Given the description of an element on the screen output the (x, y) to click on. 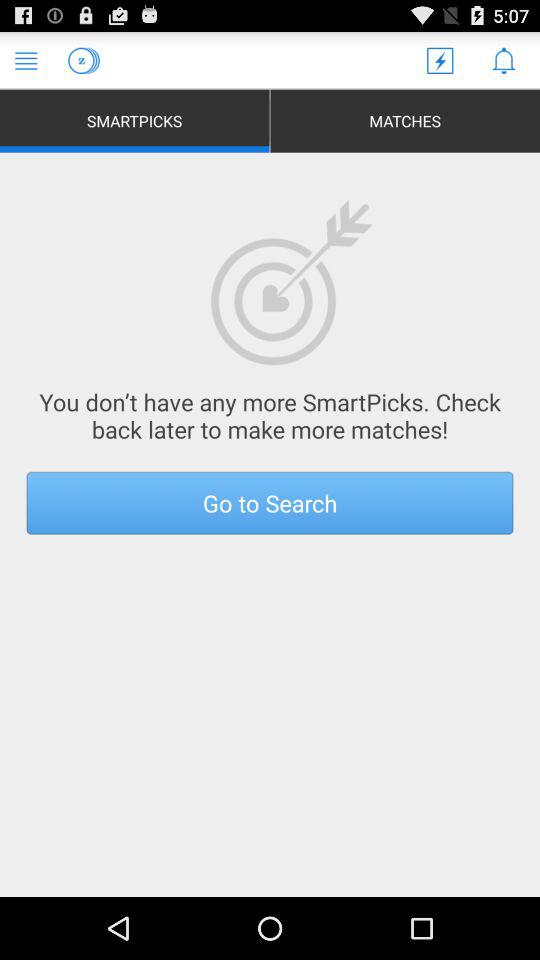
tap item below you don t (269, 502)
